Given the description of an element on the screen output the (x, y) to click on. 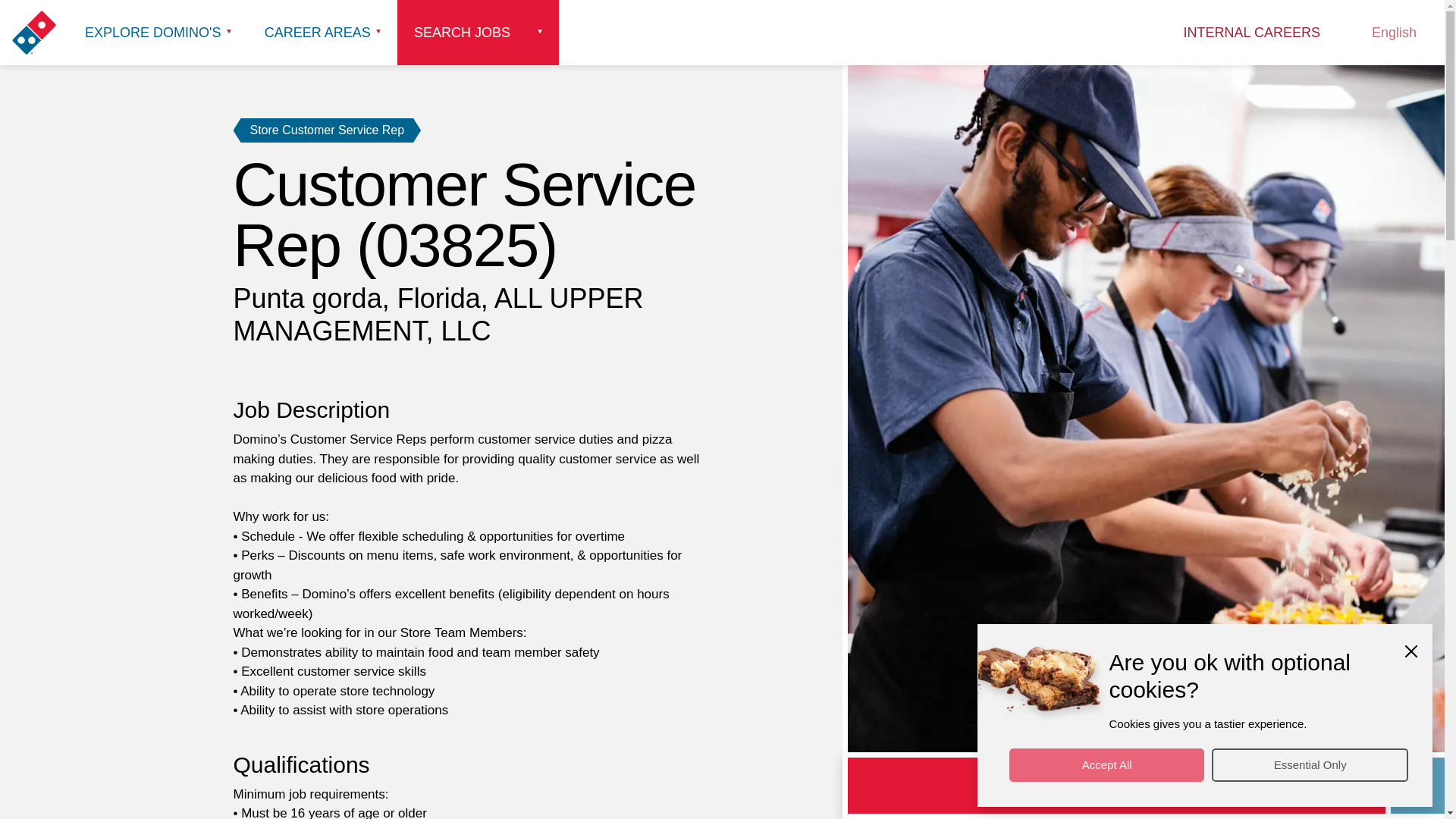
EXPLORE DOMINO'S (157, 32)
